Given the description of an element on the screen output the (x, y) to click on. 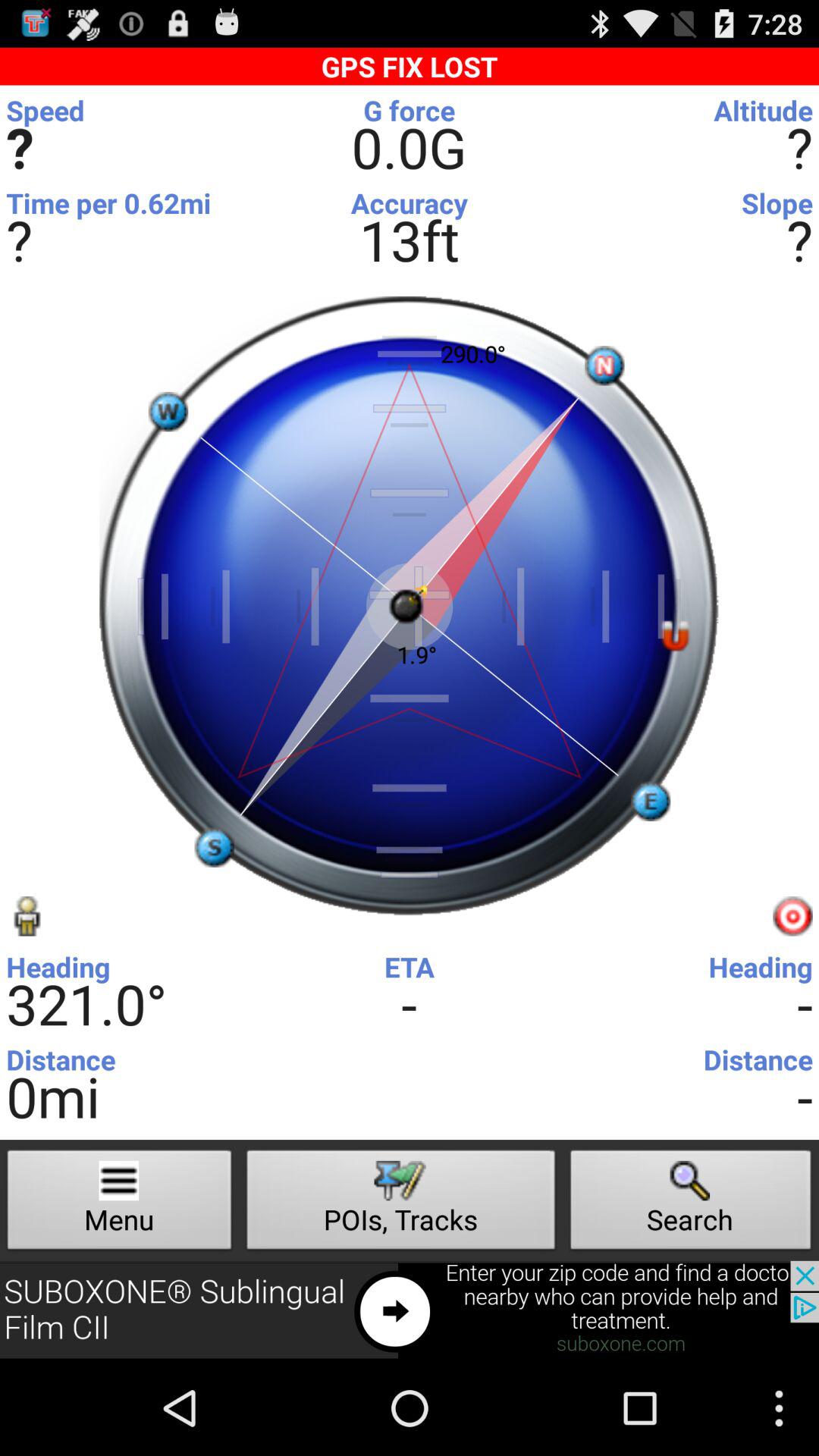
statistics (406, 114)
